Given the description of an element on the screen output the (x, y) to click on. 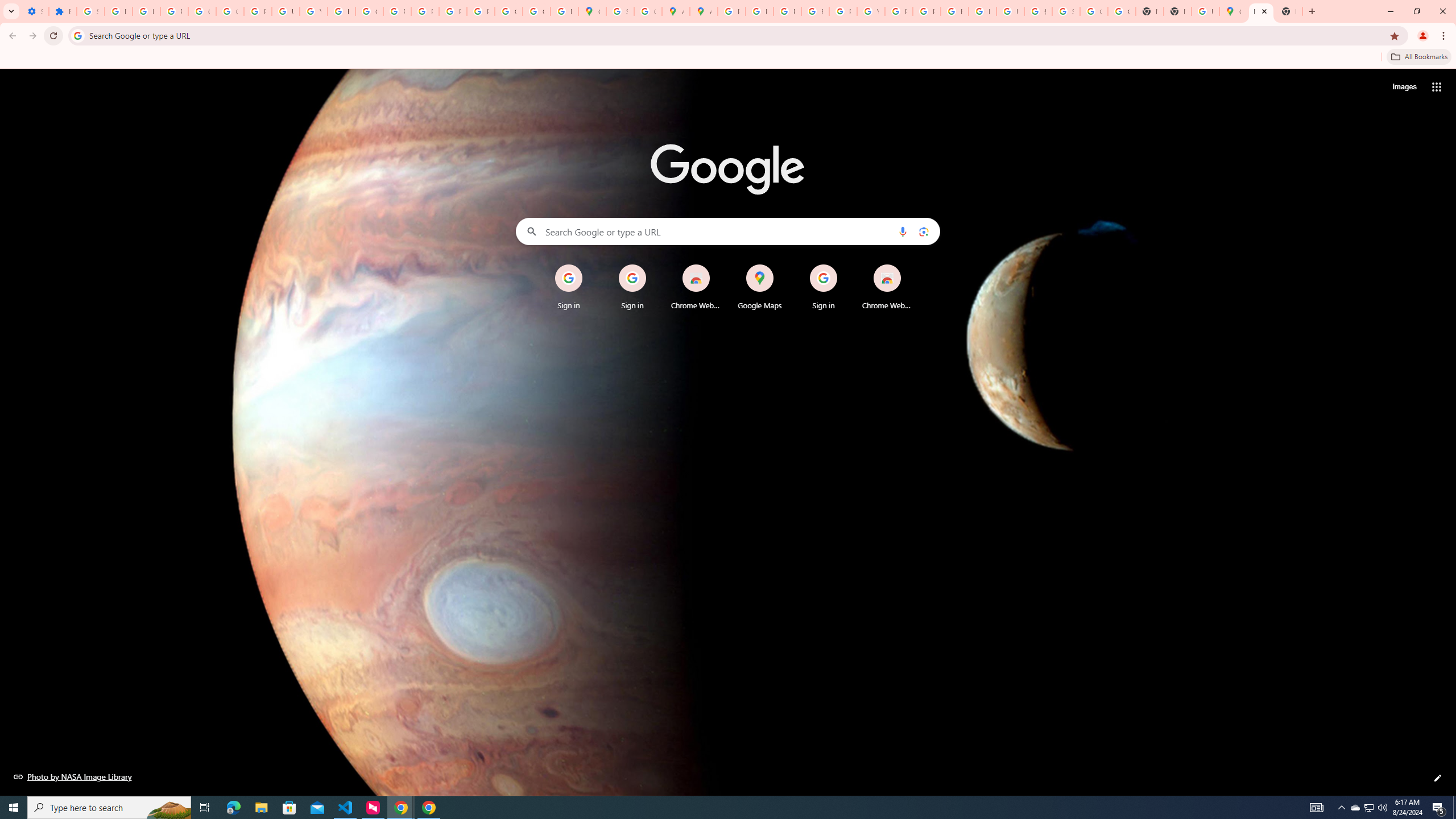
YouTube (870, 11)
Chrome Web Store (887, 287)
Sign in - Google Accounts (620, 11)
Delete photos & videos - Computer - Google Photos Help (118, 11)
Privacy Help Center - Policies Help (787, 11)
Sign in - Google Accounts (1065, 11)
New Tab (1260, 11)
Photo by NASA Image Library (72, 776)
